Given the description of an element on the screen output the (x, y) to click on. 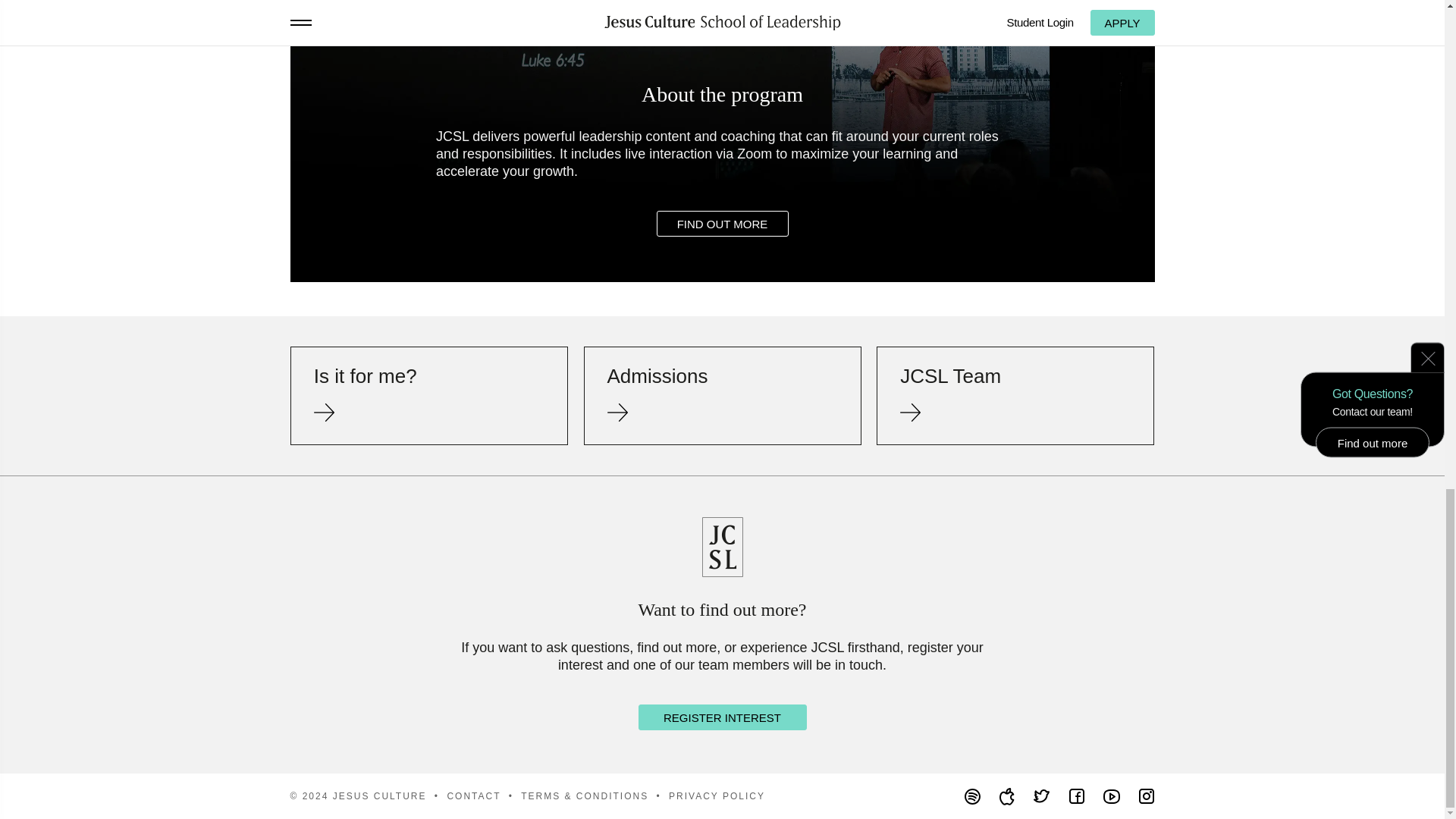
Facebook (1076, 795)
Is it for me? (428, 395)
Instagram (1146, 795)
YouTube (1111, 795)
Admissions (722, 395)
FIND OUT MORE (722, 223)
JCSL Team (1015, 395)
Twitter (1041, 796)
Spotify (971, 796)
REGISTER INTEREST (722, 717)
